Given the description of an element on the screen output the (x, y) to click on. 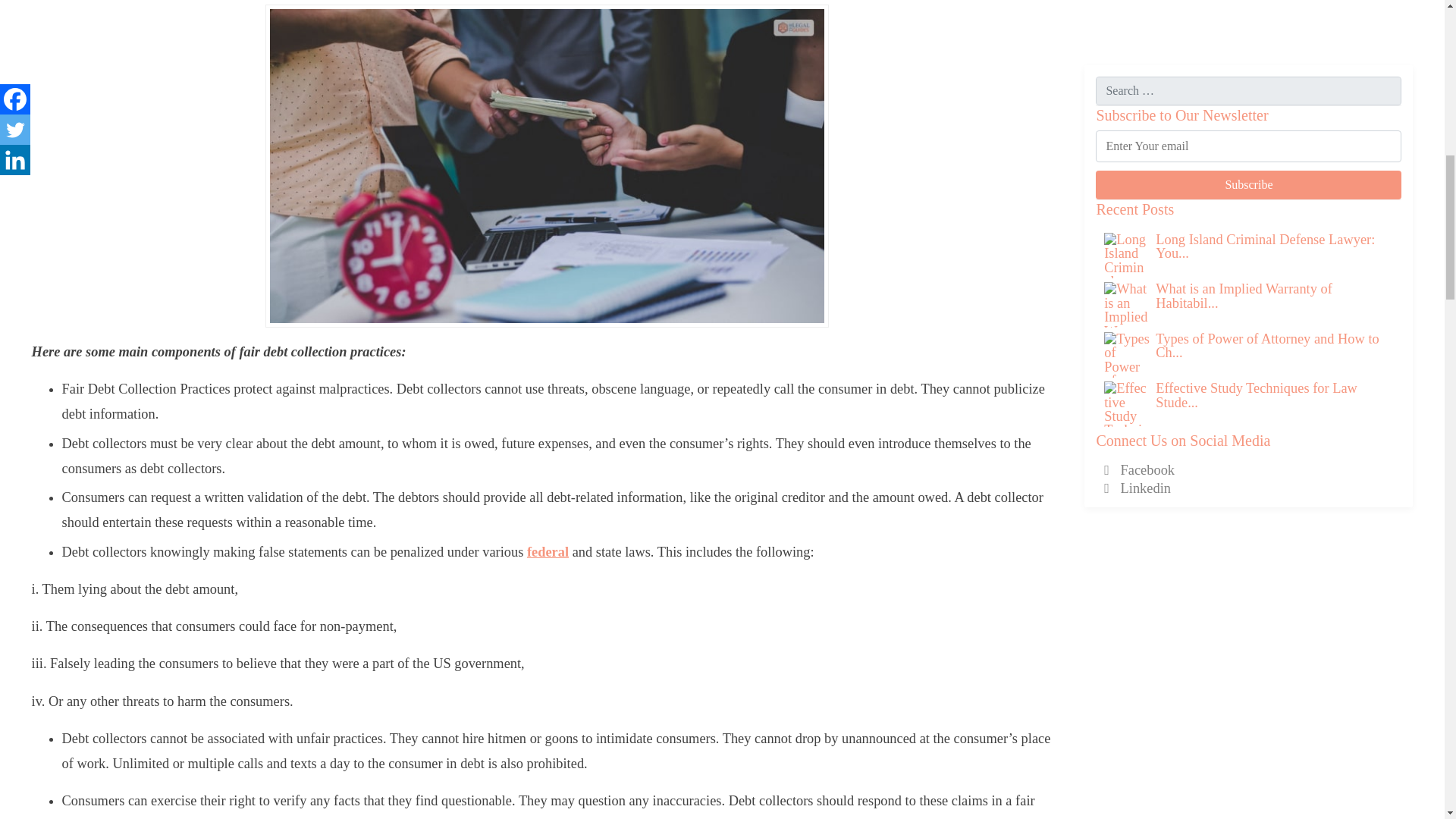
What is an Implied Warranty of Habitabil... (1244, 123)
federal (548, 551)
Effective Study Techniques for Law Stude... (1256, 223)
Long Island Criminal Defense Lawyer: You... (1265, 74)
Subscribe (1248, 13)
Types of Power of Attorney and How to Ch... (1267, 174)
Subscribe (1248, 13)
Facebook (1138, 298)
Linkedin (1136, 316)
